Given the description of an element on the screen output the (x, y) to click on. 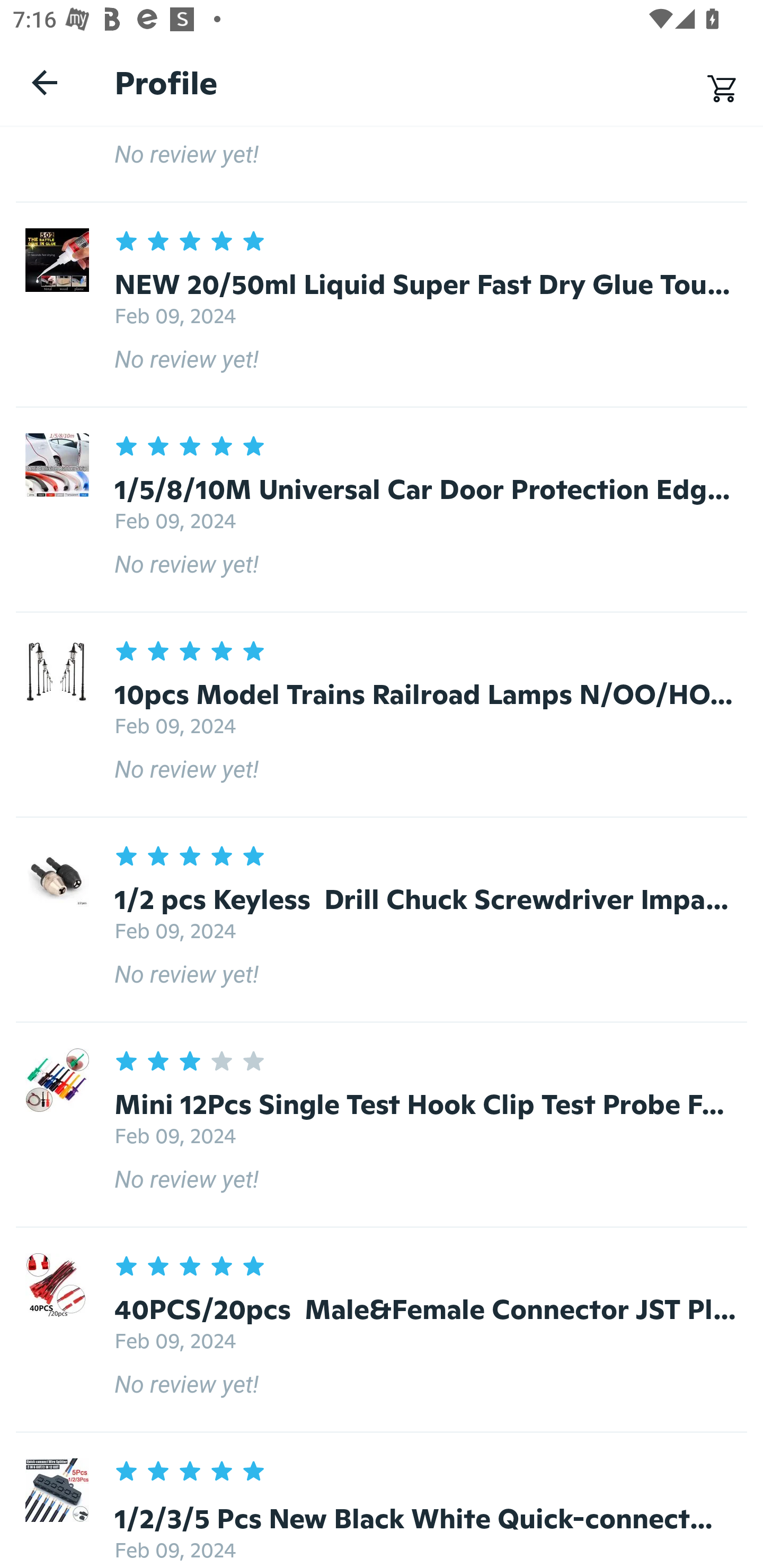
Navigate up (44, 82)
No review yet! (381, 164)
